Given the description of an element on the screen output the (x, y) to click on. 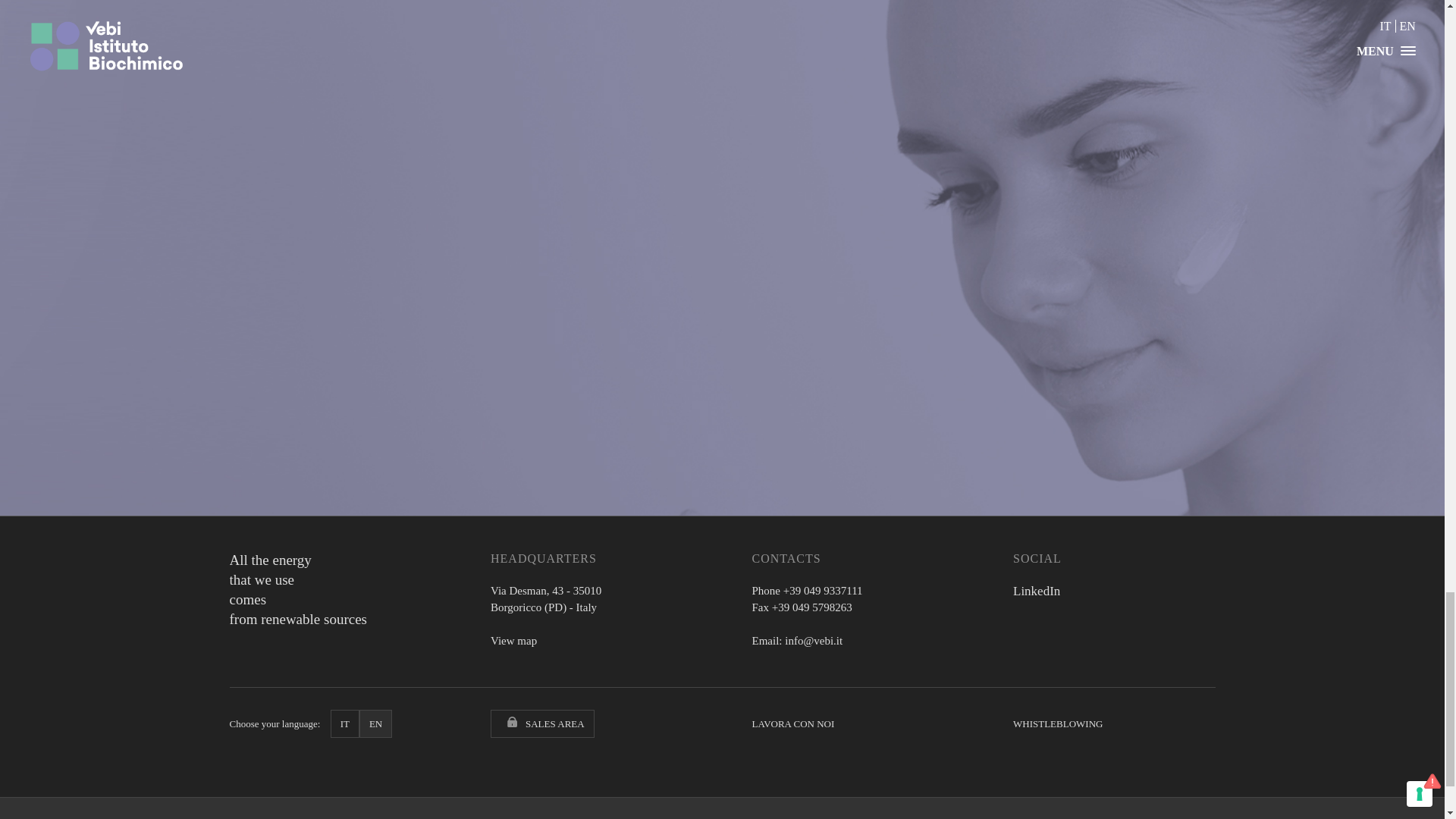
EN (375, 723)
IT (344, 723)
WHISTLEBLOWING (1057, 723)
LAVORA CON NOI (793, 723)
SALES AREA (542, 723)
LinkedIn (1036, 590)
View map (513, 640)
